Given the description of an element on the screen output the (x, y) to click on. 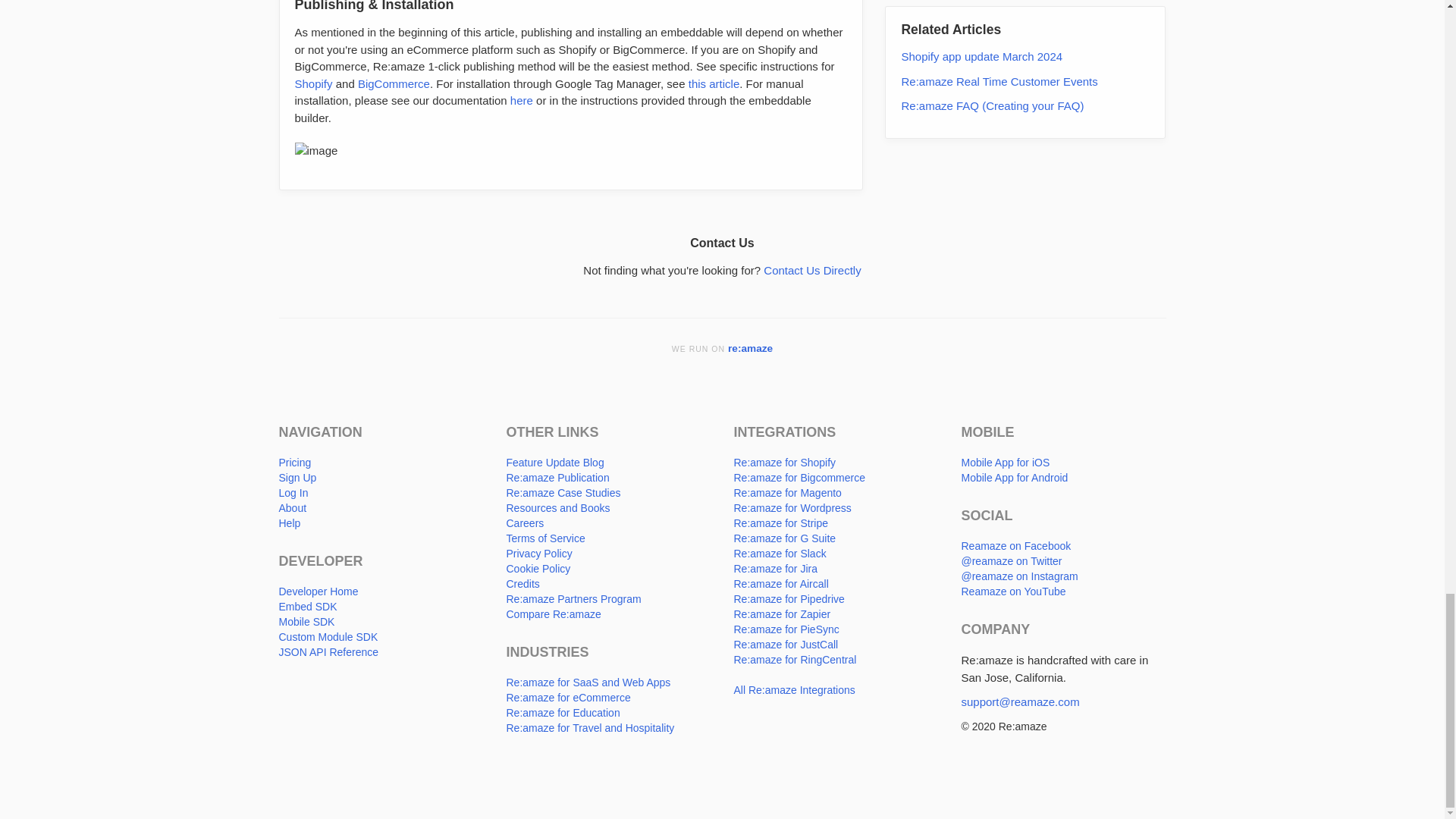
re:amaze (750, 348)
this article (713, 83)
Credits (523, 583)
Embed SDK (308, 606)
Re:amaze for eCommerce (568, 697)
Log In (293, 492)
Help (290, 522)
Sign Up (298, 477)
About (293, 508)
Re:amaze for SaaS and Web Apps (588, 682)
Developer Home (318, 591)
Contact Us Directly (811, 269)
BigCommerce (393, 83)
Shopify (312, 83)
Resources and Books (558, 508)
